Given the description of an element on the screen output the (x, y) to click on. 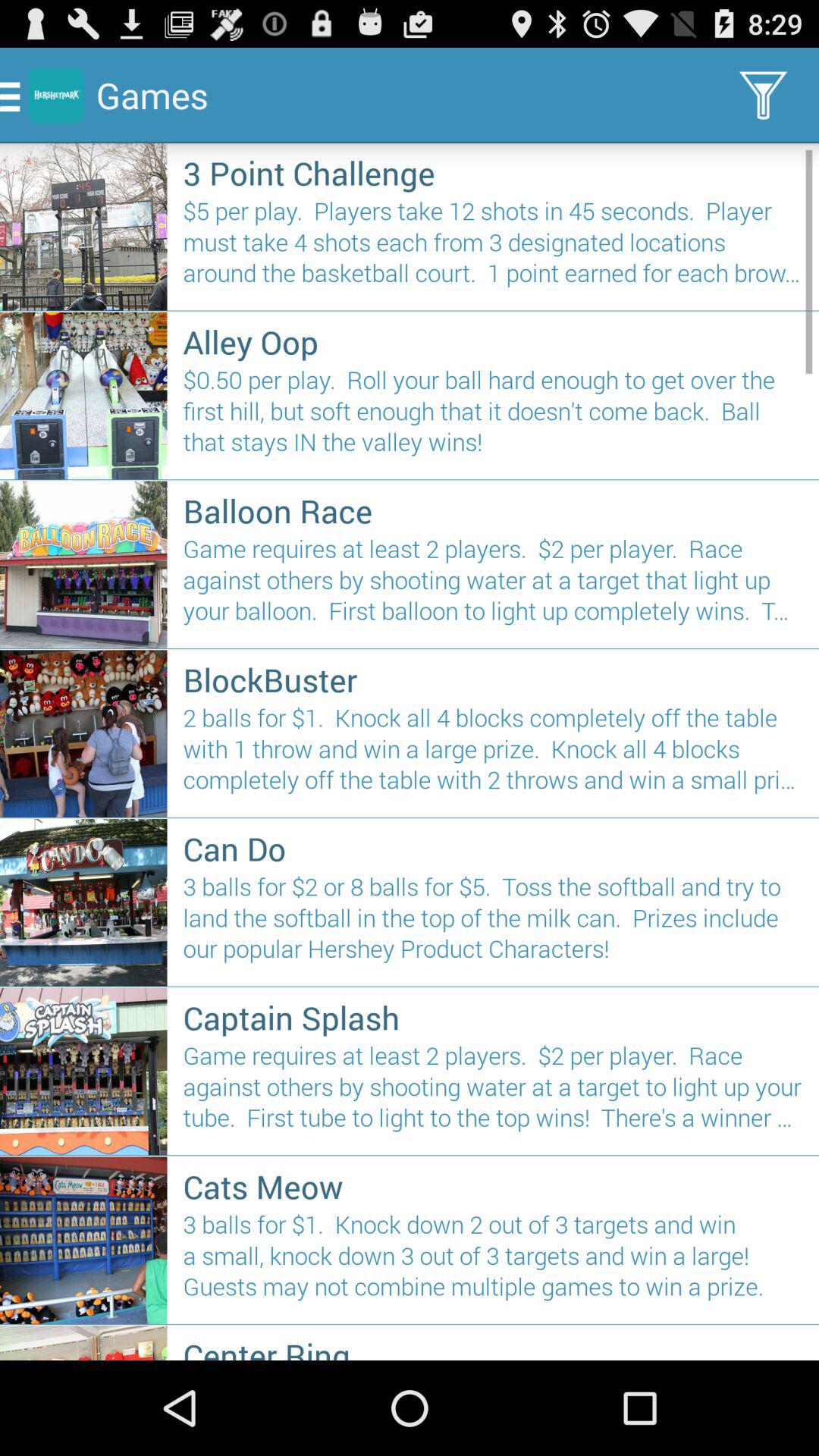
tap center ring item (493, 1346)
